Given the description of an element on the screen output the (x, y) to click on. 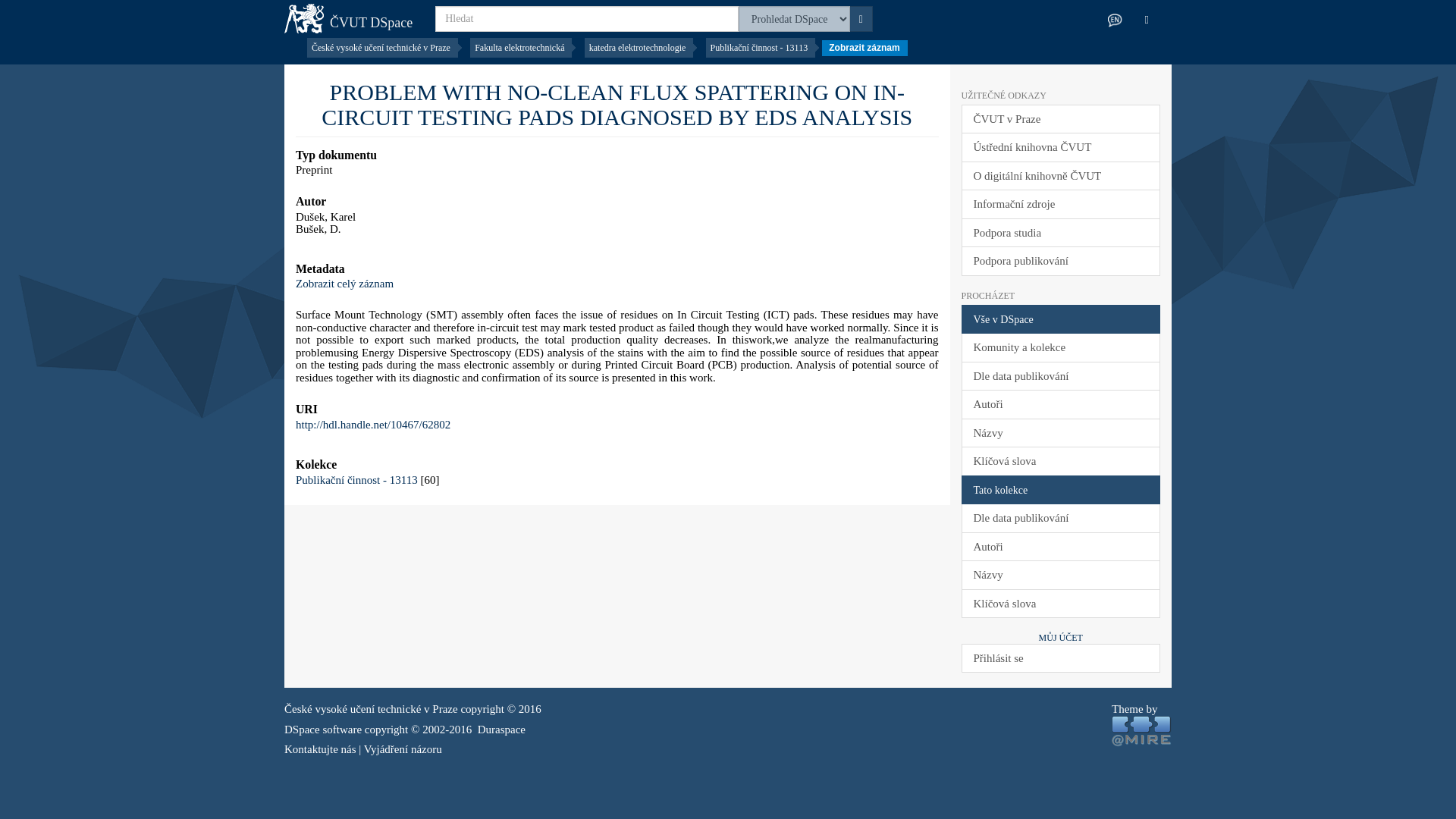
katedra elektrotechnologie (641, 47)
Vykonat (860, 18)
